Given the description of an element on the screen output the (x, y) to click on. 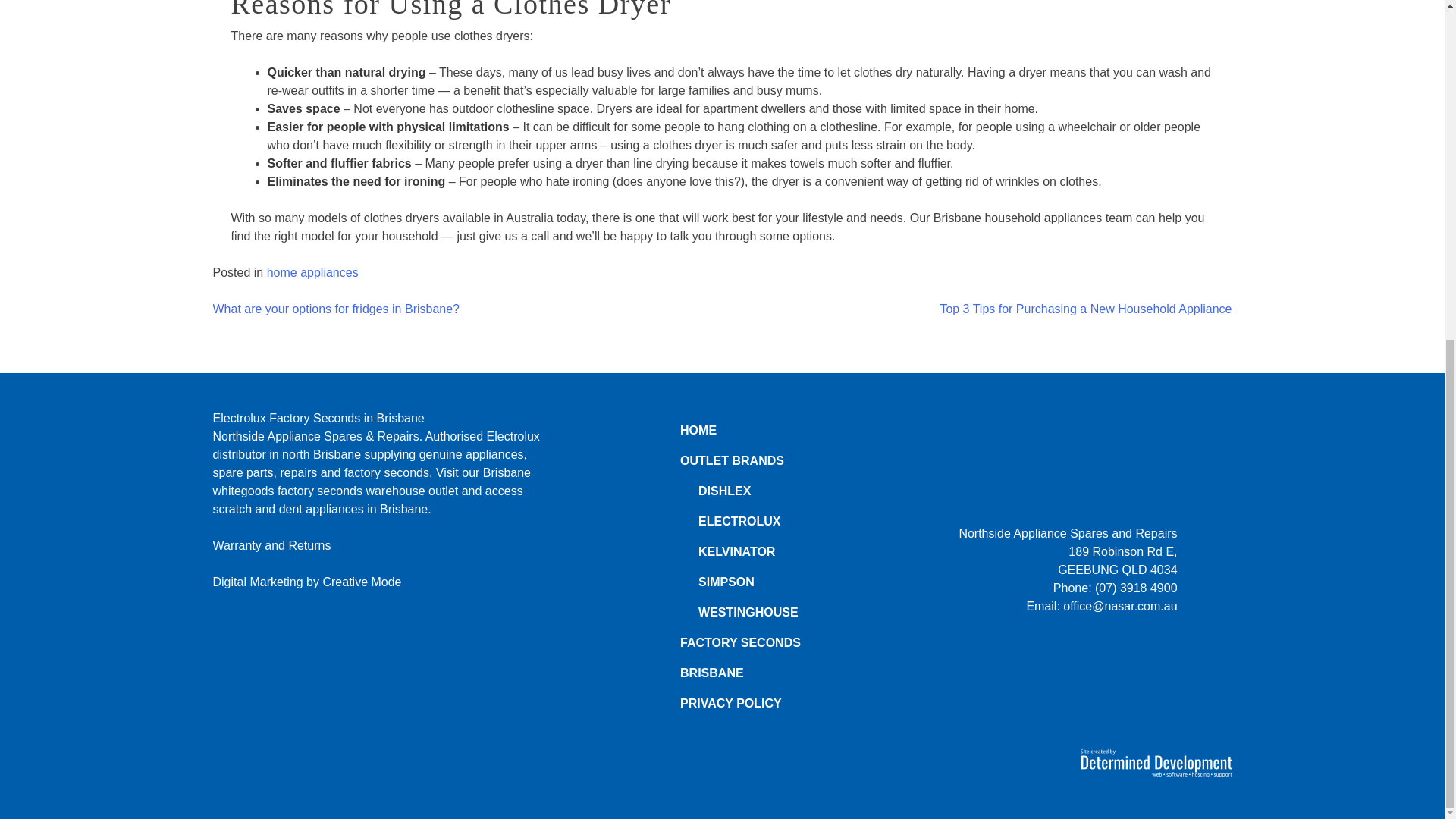
Warranty and Returns (271, 545)
HOME (697, 430)
ELECTROLUX (739, 521)
What are your options for fridges in Brisbane? (336, 308)
WESTINGHOUSE (747, 612)
Top 3 Tips for Purchasing a New Household Appliance (1085, 308)
OUTLET BRANDS (731, 460)
FACTORY SECONDS (739, 642)
DISHLEX (724, 490)
SIMPSON (726, 581)
